Given the description of an element on the screen output the (x, y) to click on. 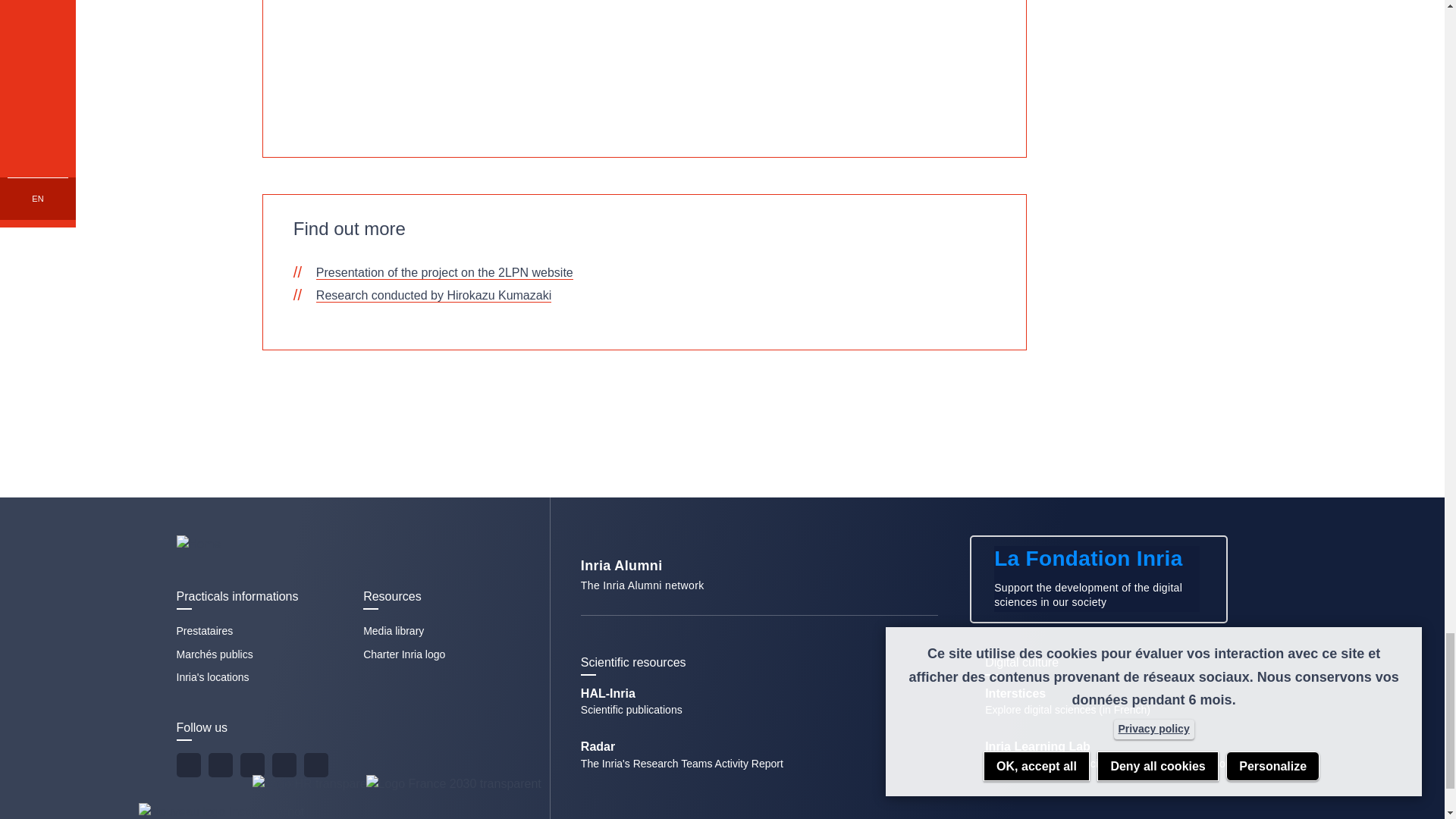
Linkedin (758, 586)
Media library (219, 764)
La Fondation Inria (392, 630)
Charter Inria logo (1098, 579)
Interstices (403, 654)
Prestataires (1067, 710)
Inria's locations (204, 630)
Digital culture (212, 676)
Instagram (631, 710)
Inria Learning Lab (1163, 735)
Inria Alumni (282, 764)
Presentation of the project on the 2LPN website (1117, 764)
